Given the description of an element on the screen output the (x, y) to click on. 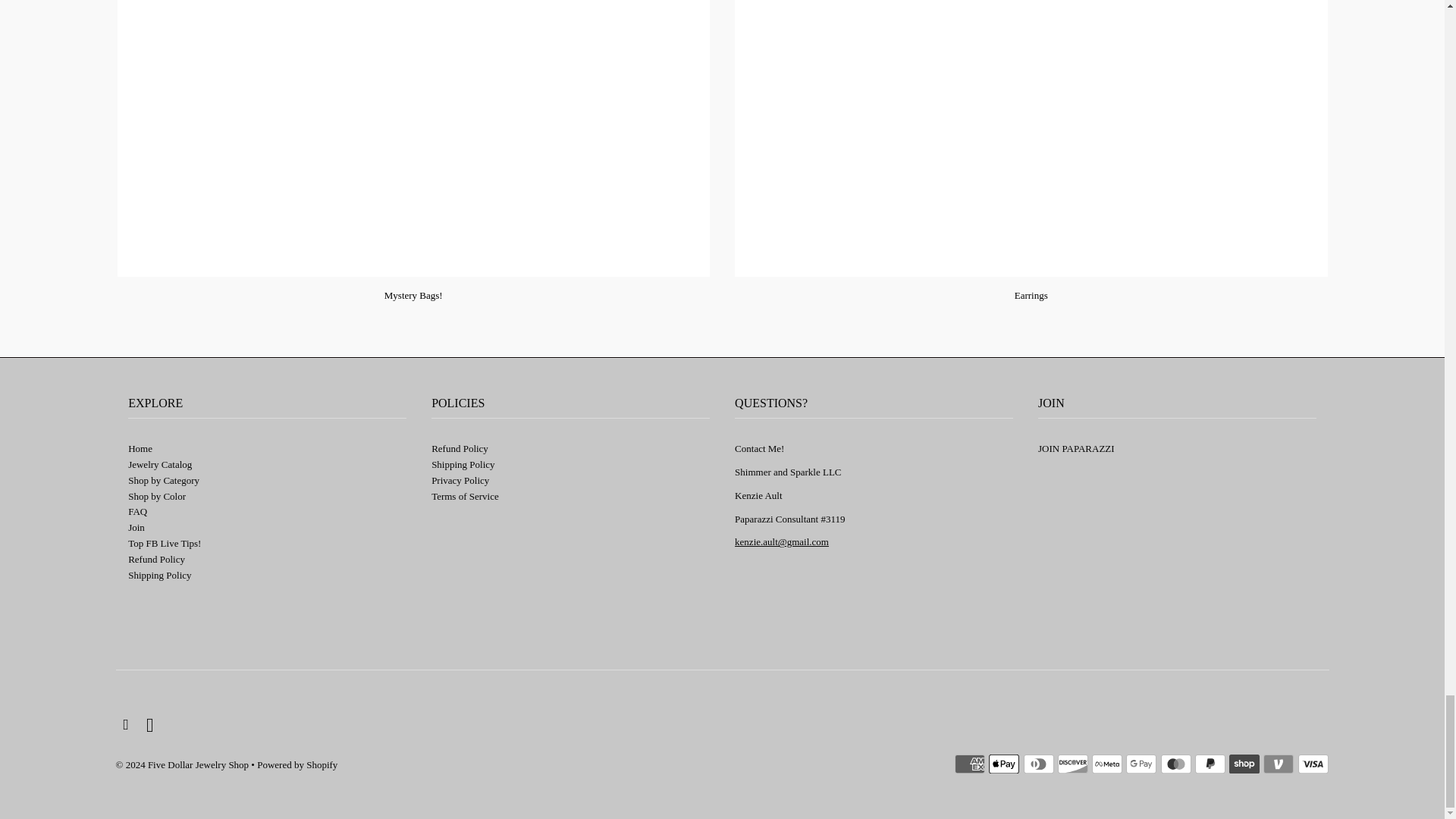
Venmo (1278, 763)
Meta Pay (1107, 763)
Apple Pay (1003, 763)
Shop Pay (1243, 763)
Diners Club (1038, 763)
Visa (1312, 763)
American Express (970, 763)
Discover (1072, 763)
Google Pay (1140, 763)
PayPal (1210, 763)
Mastercard (1175, 763)
